Given the description of an element on the screen output the (x, y) to click on. 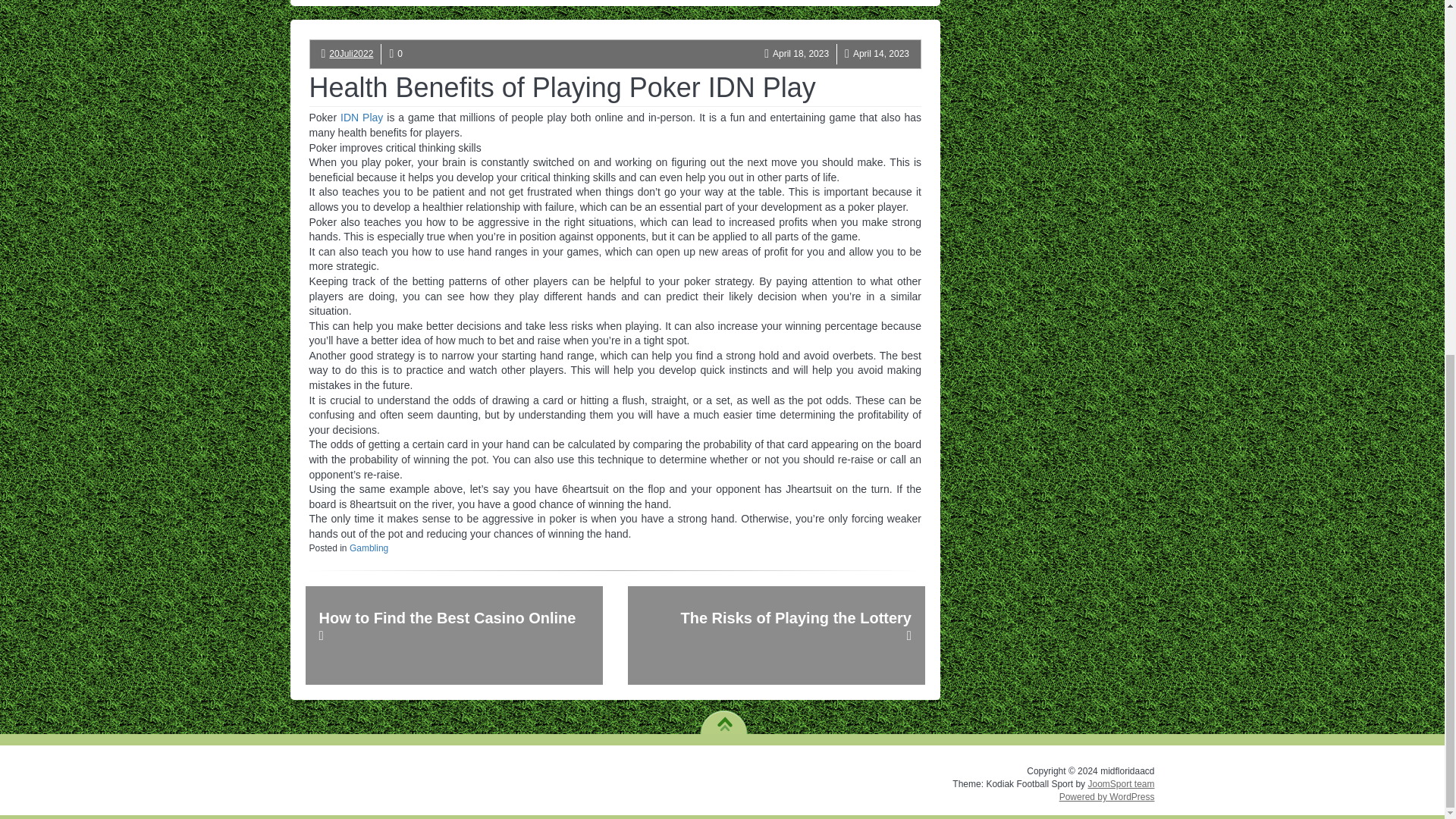
Gambling (368, 547)
How to Find the Best Casino Online (453, 635)
IDN Play (361, 117)
20Juli2022 (350, 53)
 The Best WordPress Sport Plugin for your league and club  (1120, 783)
The Risks of Playing the Lottery (775, 635)
